Given the description of an element on the screen output the (x, y) to click on. 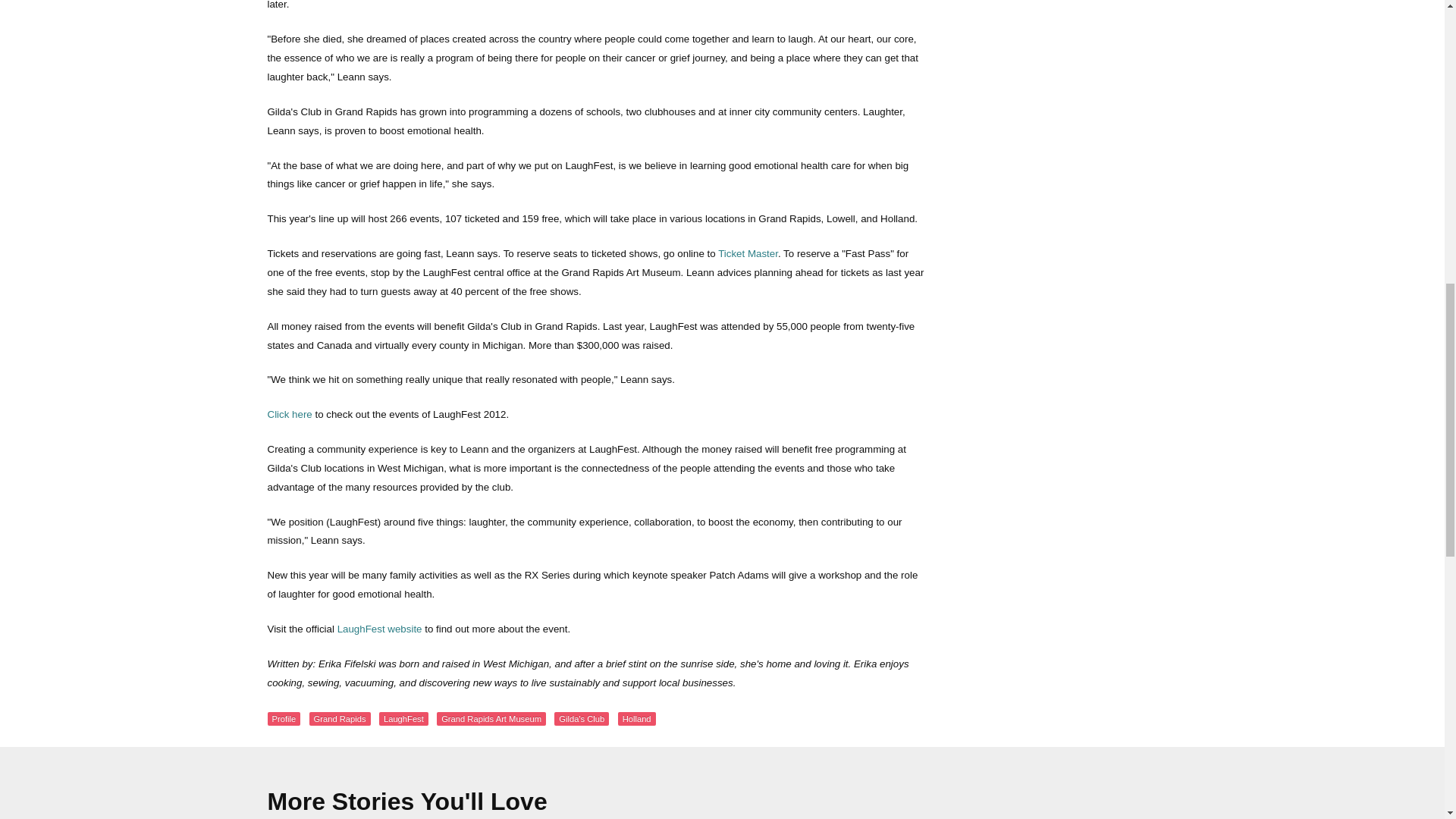
Profile (282, 718)
LaughFest website (379, 628)
Ticket Master (747, 253)
3rd party ad content (1062, 20)
3rd party ad content (1062, 422)
Click here (288, 414)
3rd party ad content (1062, 185)
